Given the description of an element on the screen output the (x, y) to click on. 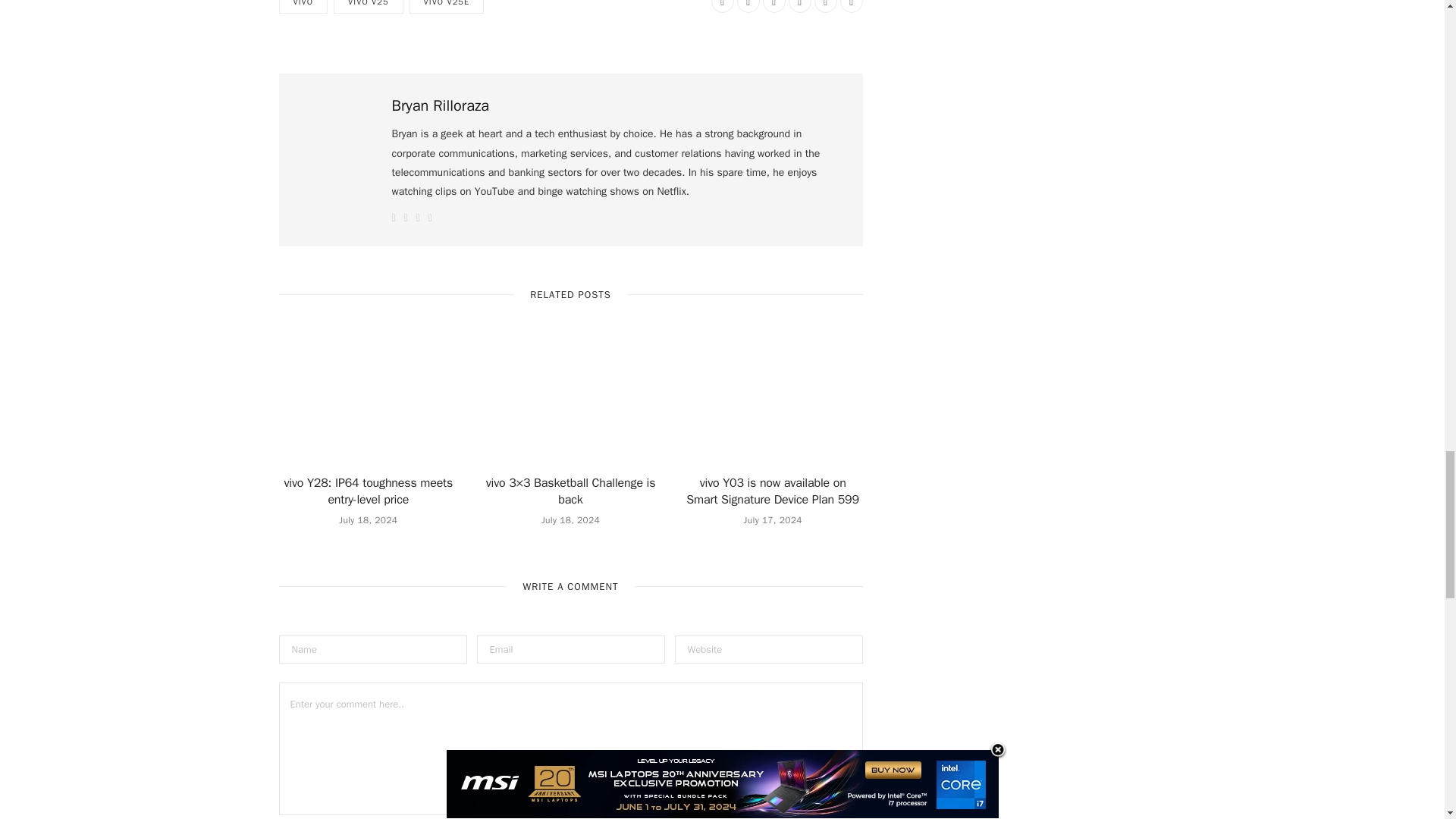
Twitter (748, 6)
VIVO V25E (446, 6)
Posts by Bryan Rilloraza (440, 106)
LinkedIn (825, 6)
Reddit (774, 6)
VIVO V25 (368, 6)
Facebook (722, 6)
vivo Y28: IP64 toughness meets entry-level price (368, 403)
Pinterest (799, 6)
vivo Y03 is now available on Smart Signature Device Plan 599 (772, 403)
VIVO (304, 6)
July 18, 2024 (368, 520)
vivo Y28: IP64 toughness meets entry-level price (367, 490)
Email (851, 6)
Bryan Rilloraza (440, 106)
